Given the description of an element on the screen output the (x, y) to click on. 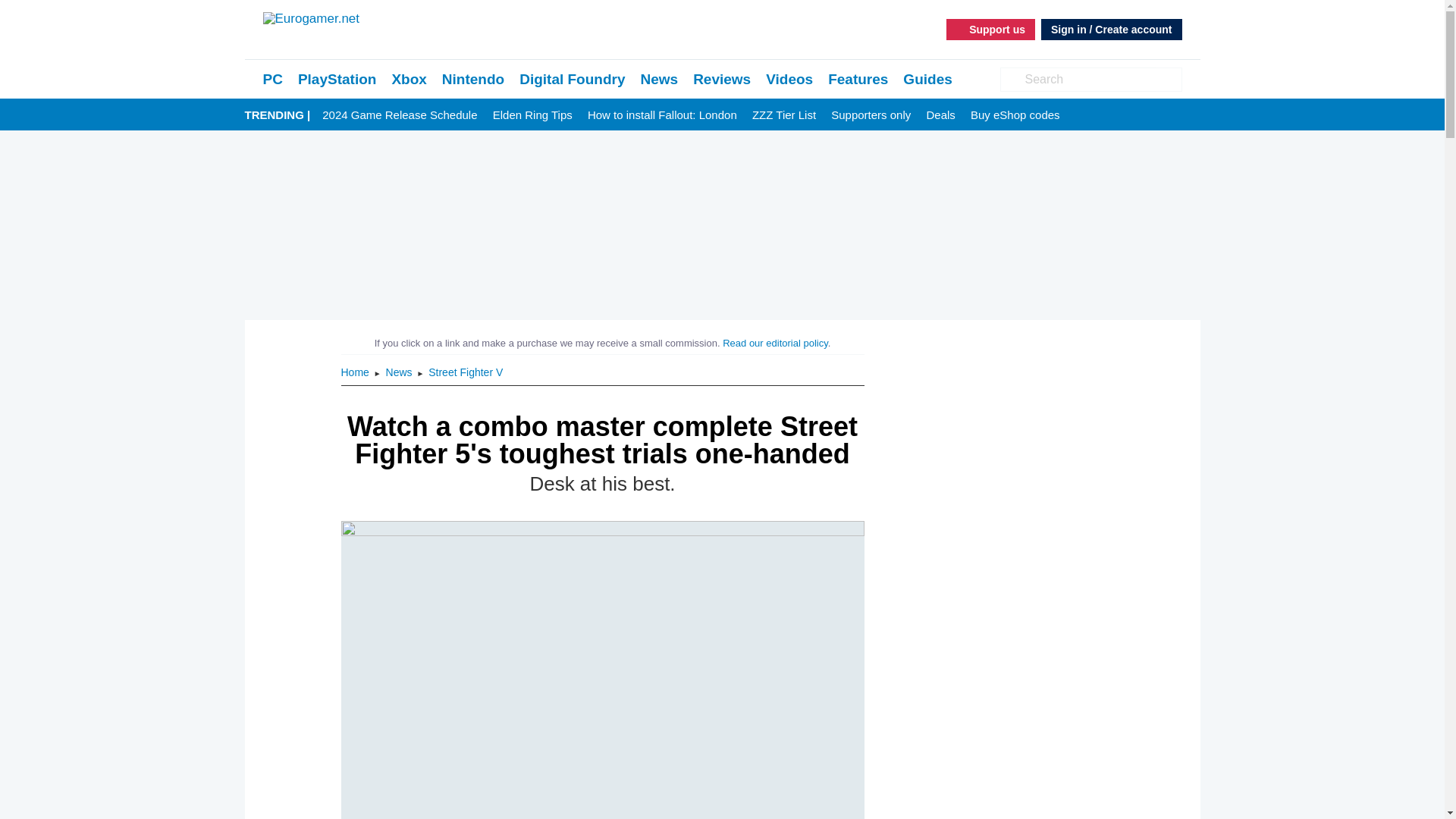
Reviews (722, 78)
ZZZ Tier List (783, 114)
Deals (940, 114)
ZZZ Tier List (783, 114)
Xbox (408, 78)
Street Fighter V (465, 372)
Buy eShop codes (1015, 114)
Features (858, 78)
How to install Fallout: London (662, 114)
Street Fighter V (465, 372)
Xbox (408, 78)
Features (858, 78)
Videos (788, 78)
Reviews (722, 78)
News (659, 78)
